Given the description of an element on the screen output the (x, y) to click on. 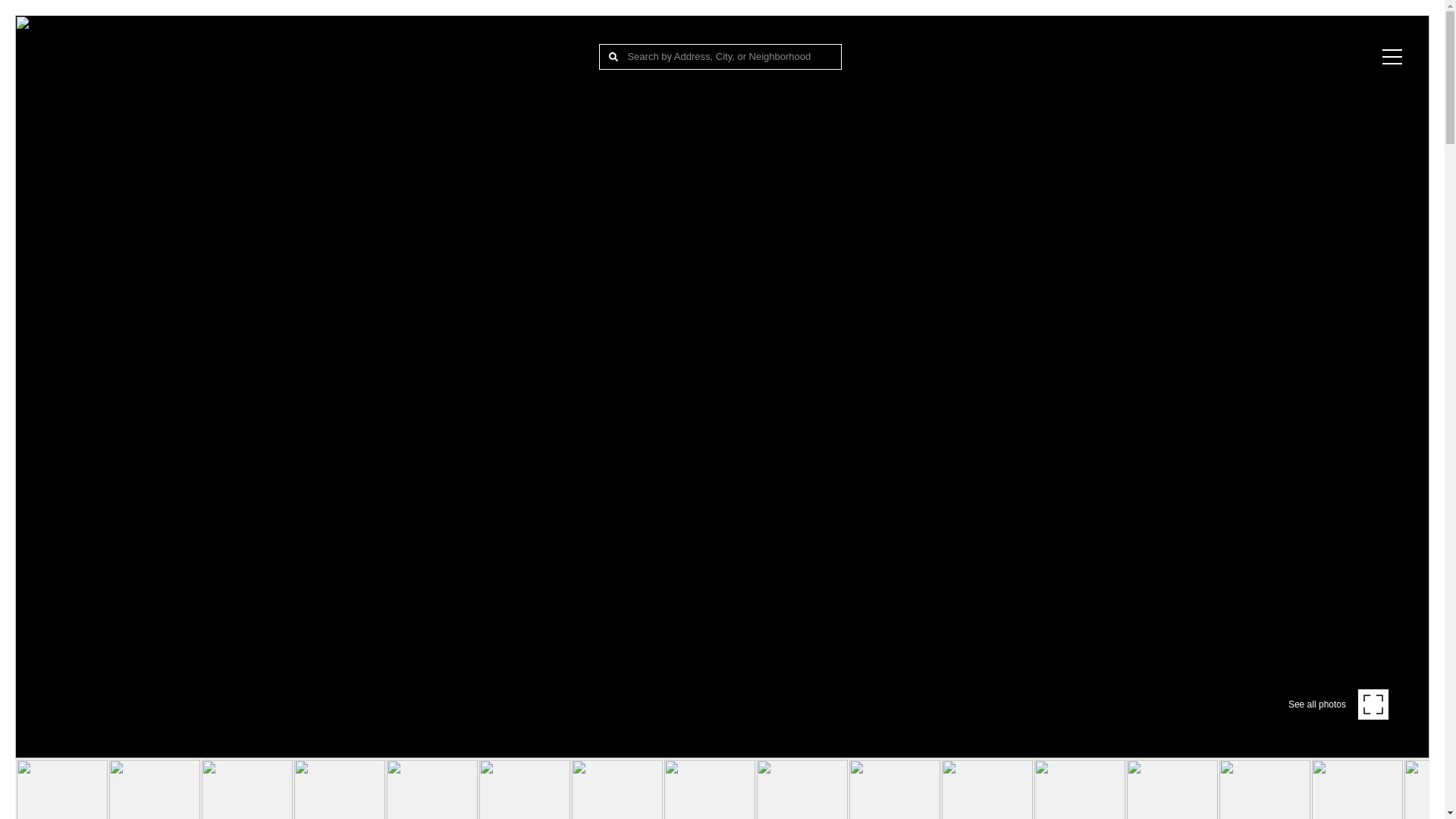
See all photos (1338, 703)
